Given the description of an element on the screen output the (x, y) to click on. 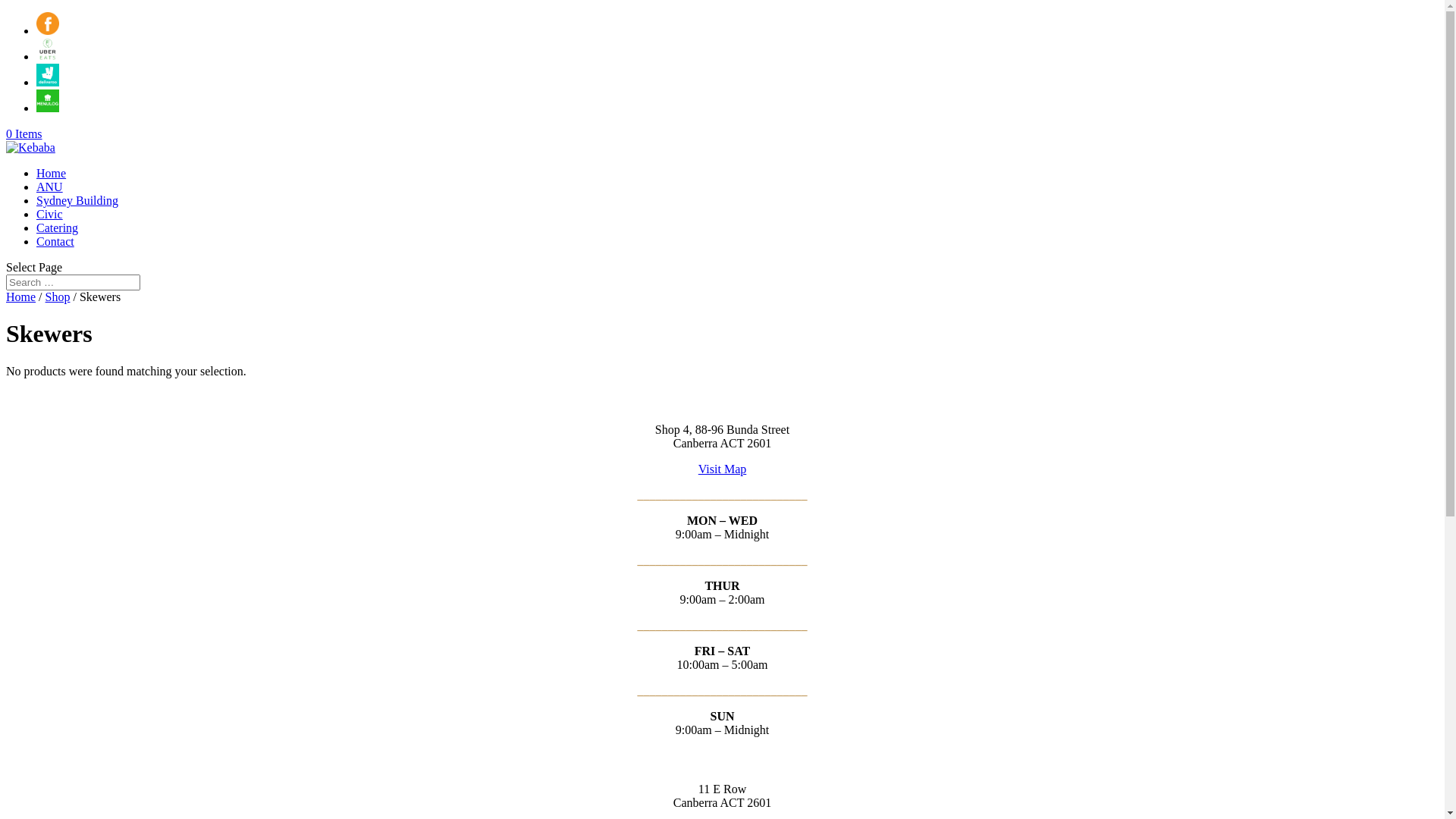
Search for: Element type: hover (73, 282)
ANU Element type: text (49, 186)
Visit Map Element type: text (722, 468)
Home Element type: text (50, 172)
Catering Element type: text (57, 227)
0 Items Element type: text (24, 133)
Home Element type: text (20, 296)
Contact Element type: text (55, 241)
Sydney Building Element type: text (77, 200)
Shop Element type: text (57, 296)
Civic Element type: text (49, 213)
